Given the description of an element on the screen output the (x, y) to click on. 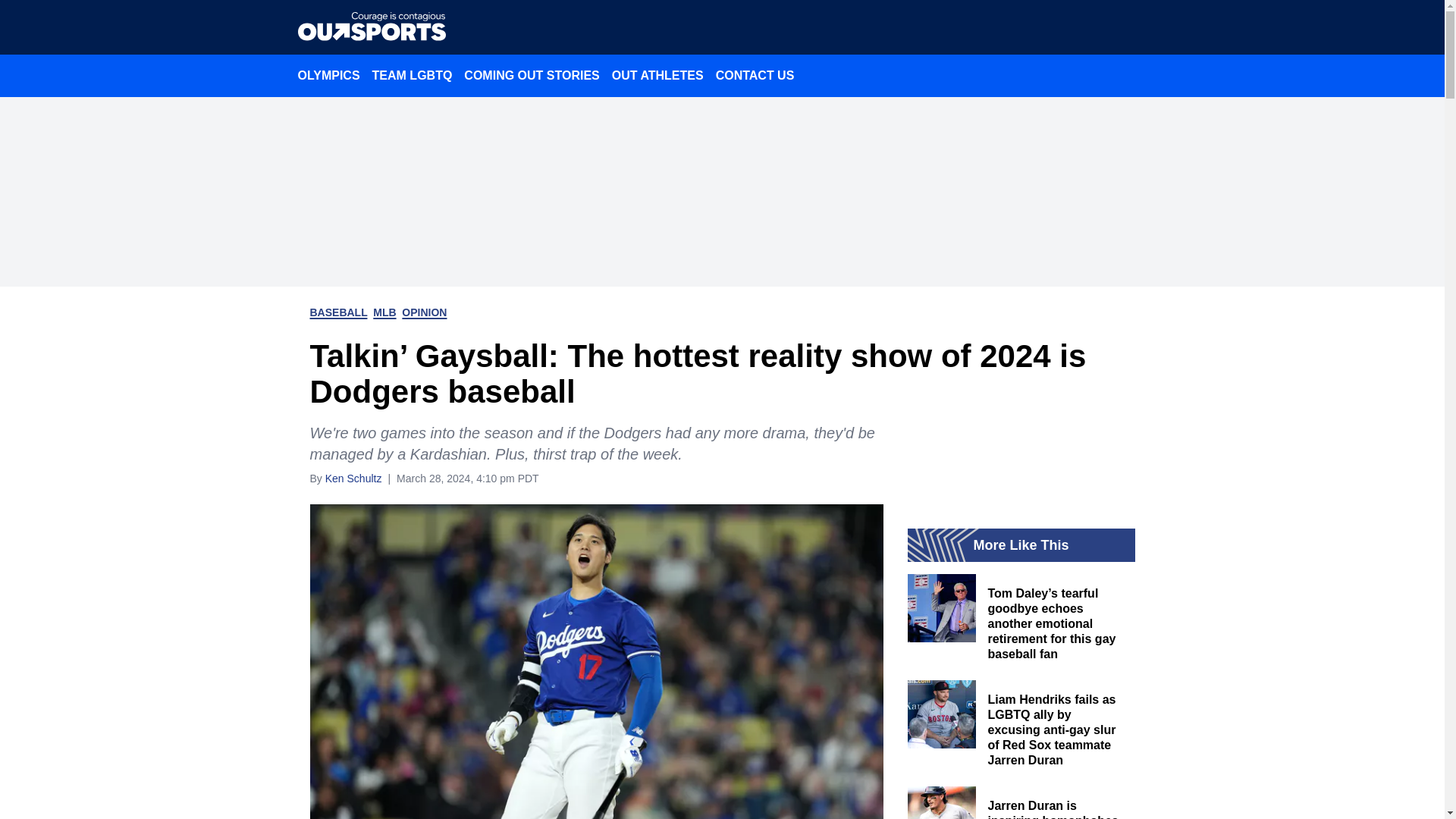
OLYMPICS (328, 75)
Ken Schultz (352, 477)
COMING OUT STORIES (531, 75)
TEAM LGBTQ (412, 75)
BASEBALL (337, 312)
CONTACT US (755, 75)
OUT ATHLETES (657, 75)
MLB (384, 312)
OPINION (423, 312)
